Given the description of an element on the screen output the (x, y) to click on. 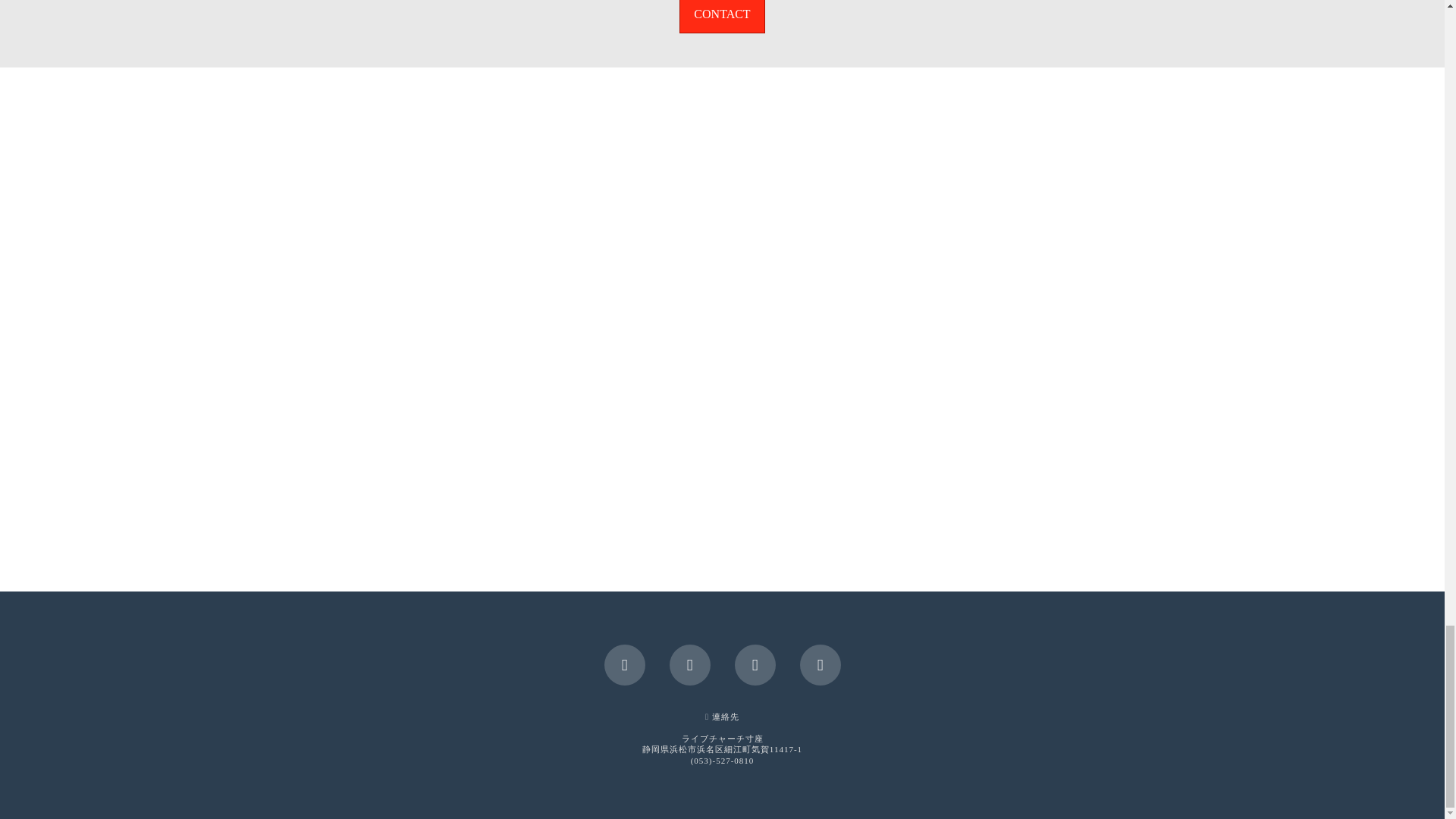
YouTube (753, 664)
Facebook (624, 664)
CONTACT (721, 16)
Instagram (819, 664)
